Given the description of an element on the screen output the (x, y) to click on. 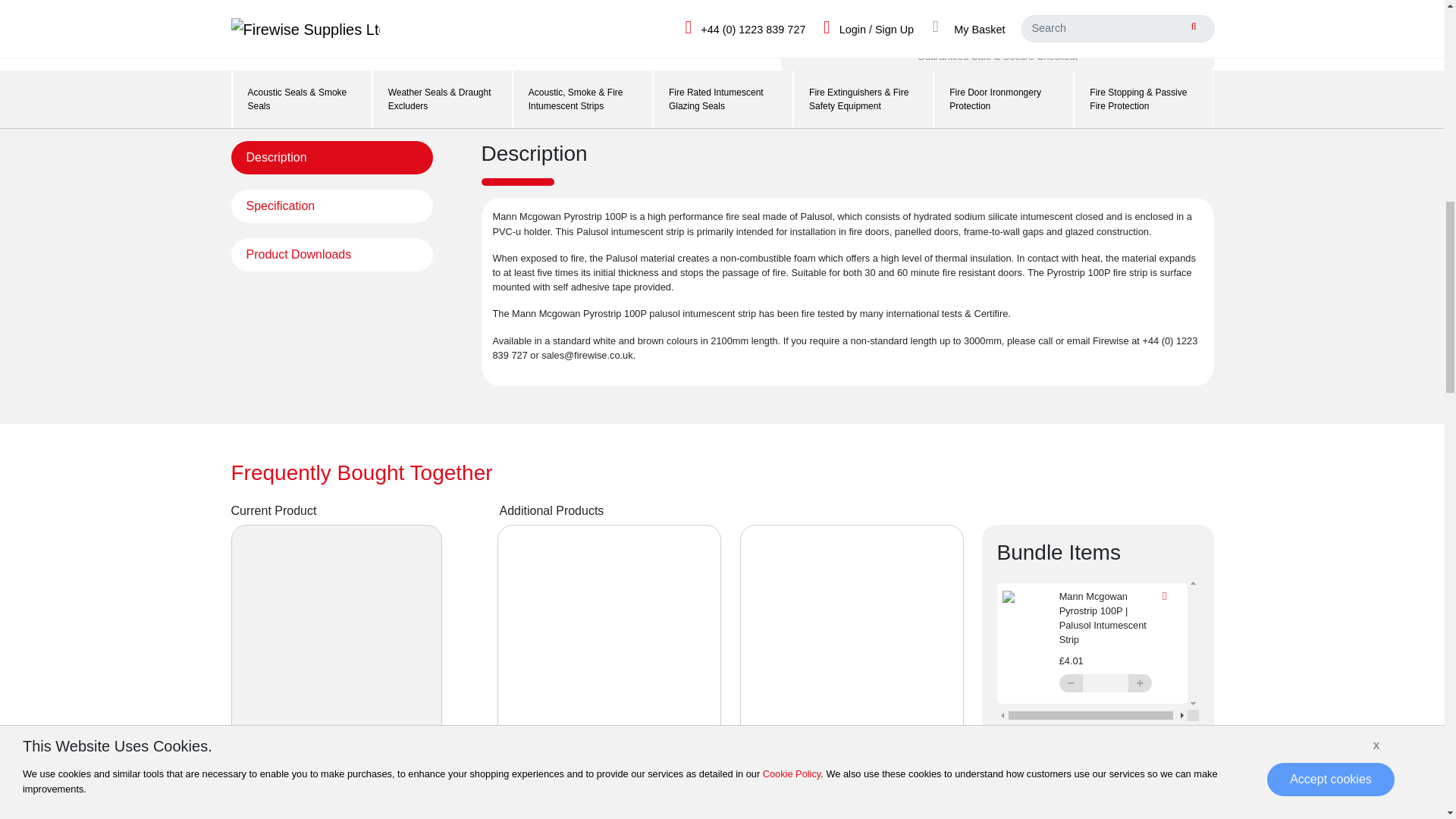
Mann Mcgowan Brand Logo (280, 553)
Product Downloads (331, 254)
Specification (331, 205)
Description (331, 157)
